Given the description of an element on the screen output the (x, y) to click on. 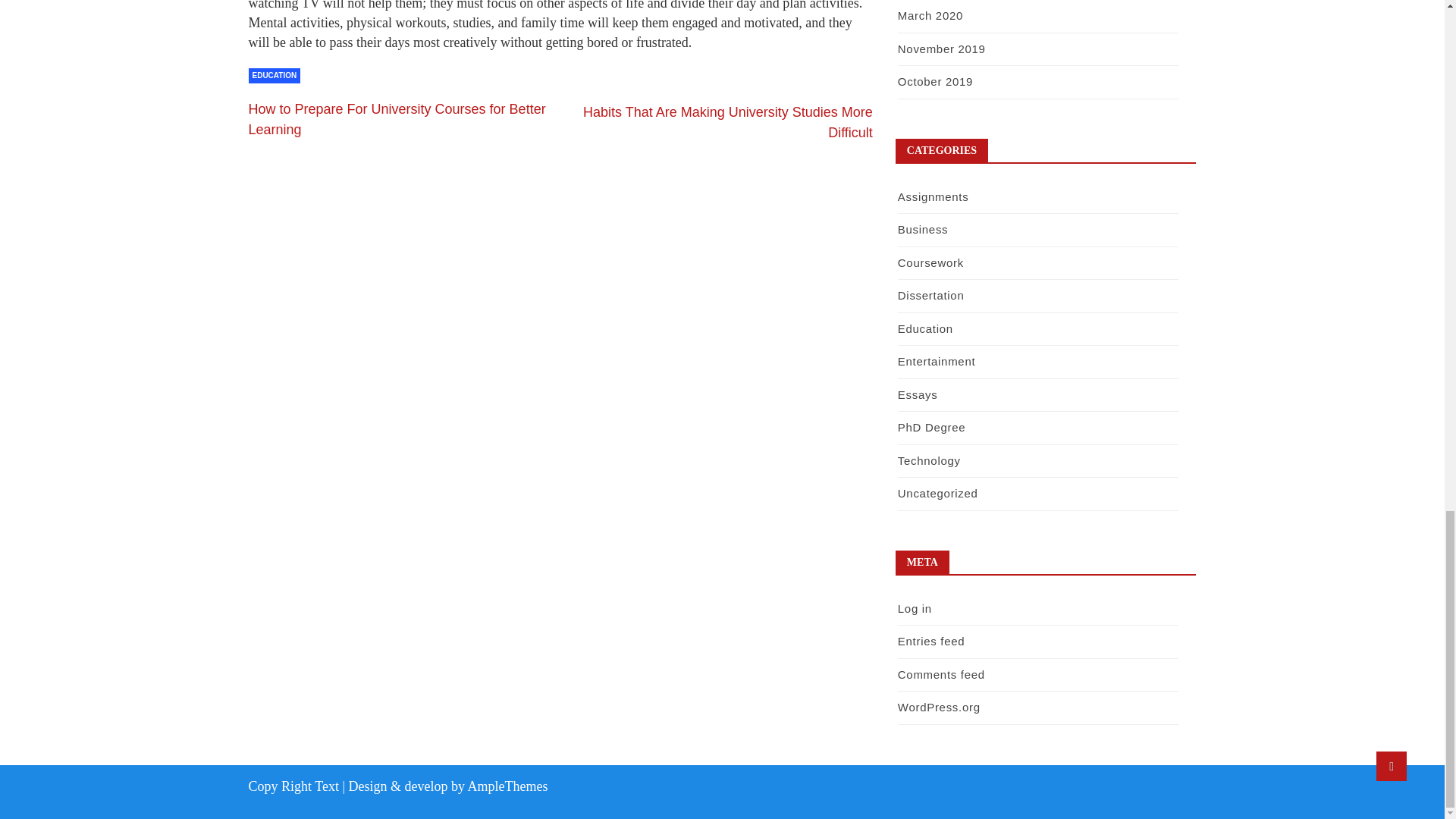
How to Prepare For University Courses for Better Learning (397, 119)
Habits That Are Making University Studies More Difficult (727, 122)
EDUCATION (274, 75)
